Given the description of an element on the screen output the (x, y) to click on. 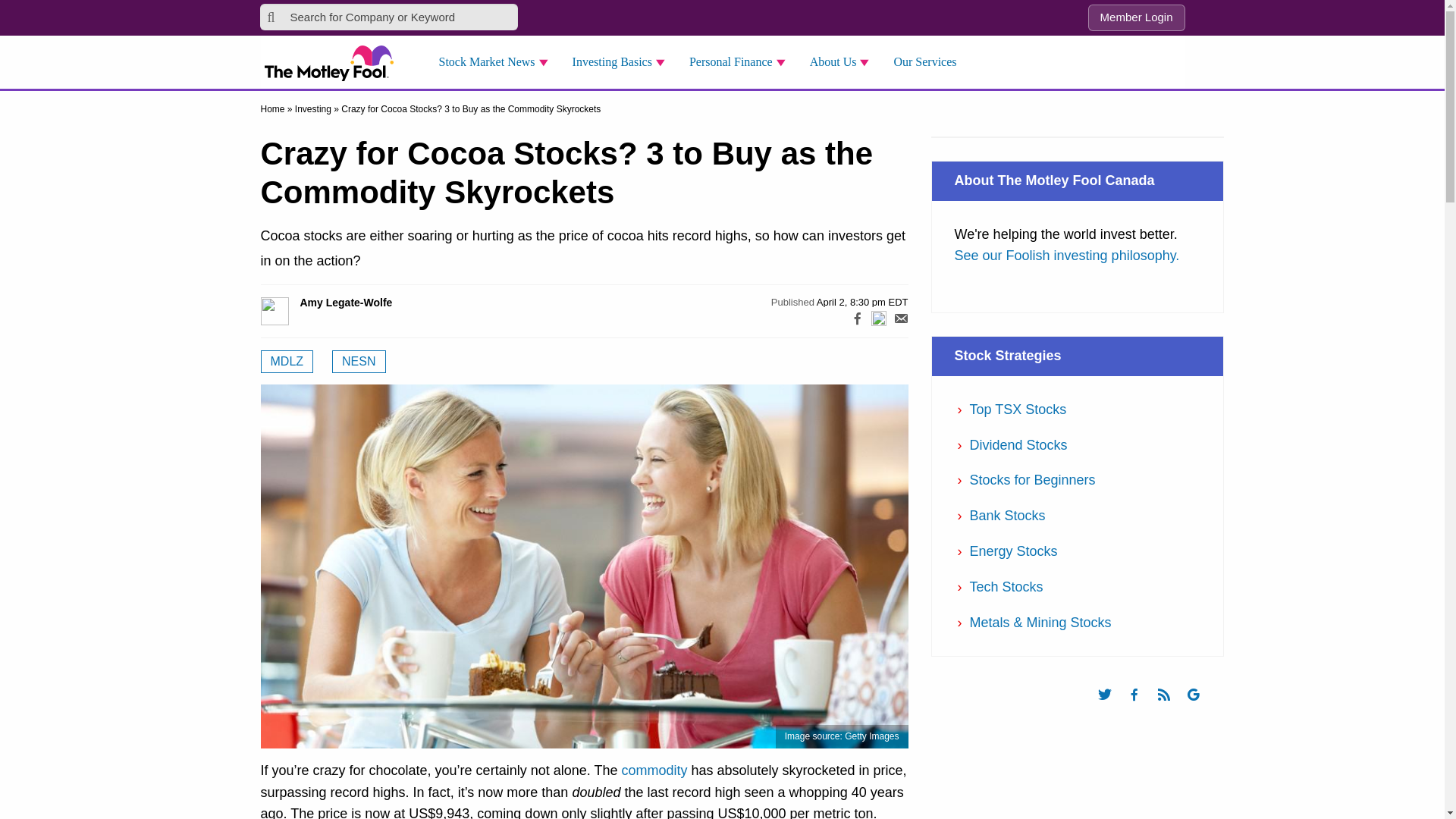
Stock Market News (497, 62)
See more articles about MDLZ (287, 361)
Like us on Facebook (1141, 707)
Member Login (1136, 17)
See more articles about NESN (358, 361)
Subscribe to our feed (1171, 707)
Investing Basics (623, 62)
Follow us on Twitter (1111, 707)
